Given the description of an element on the screen output the (x, y) to click on. 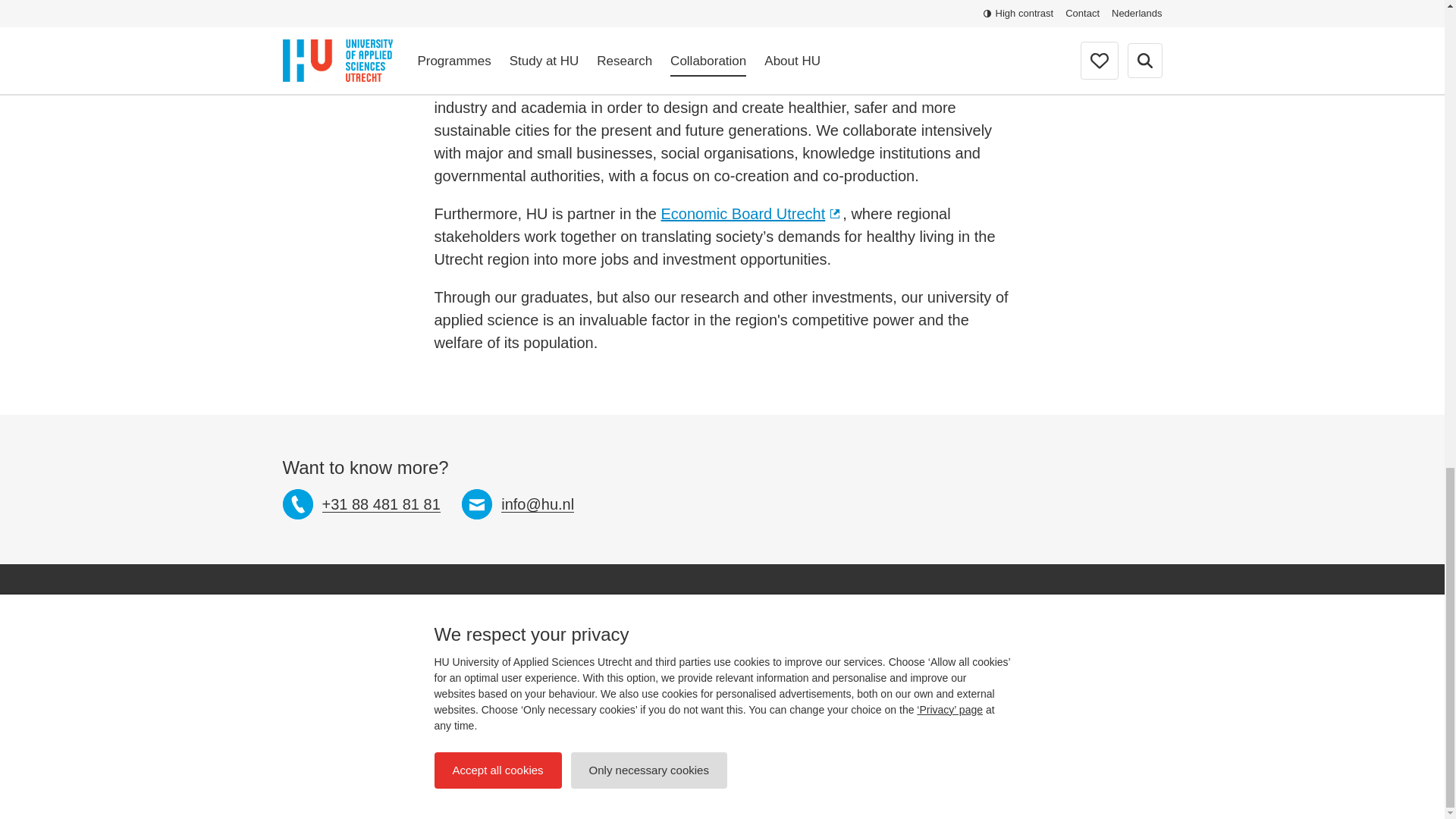
external link (675, 85)
external link (836, 214)
